Given the description of an element on the screen output the (x, y) to click on. 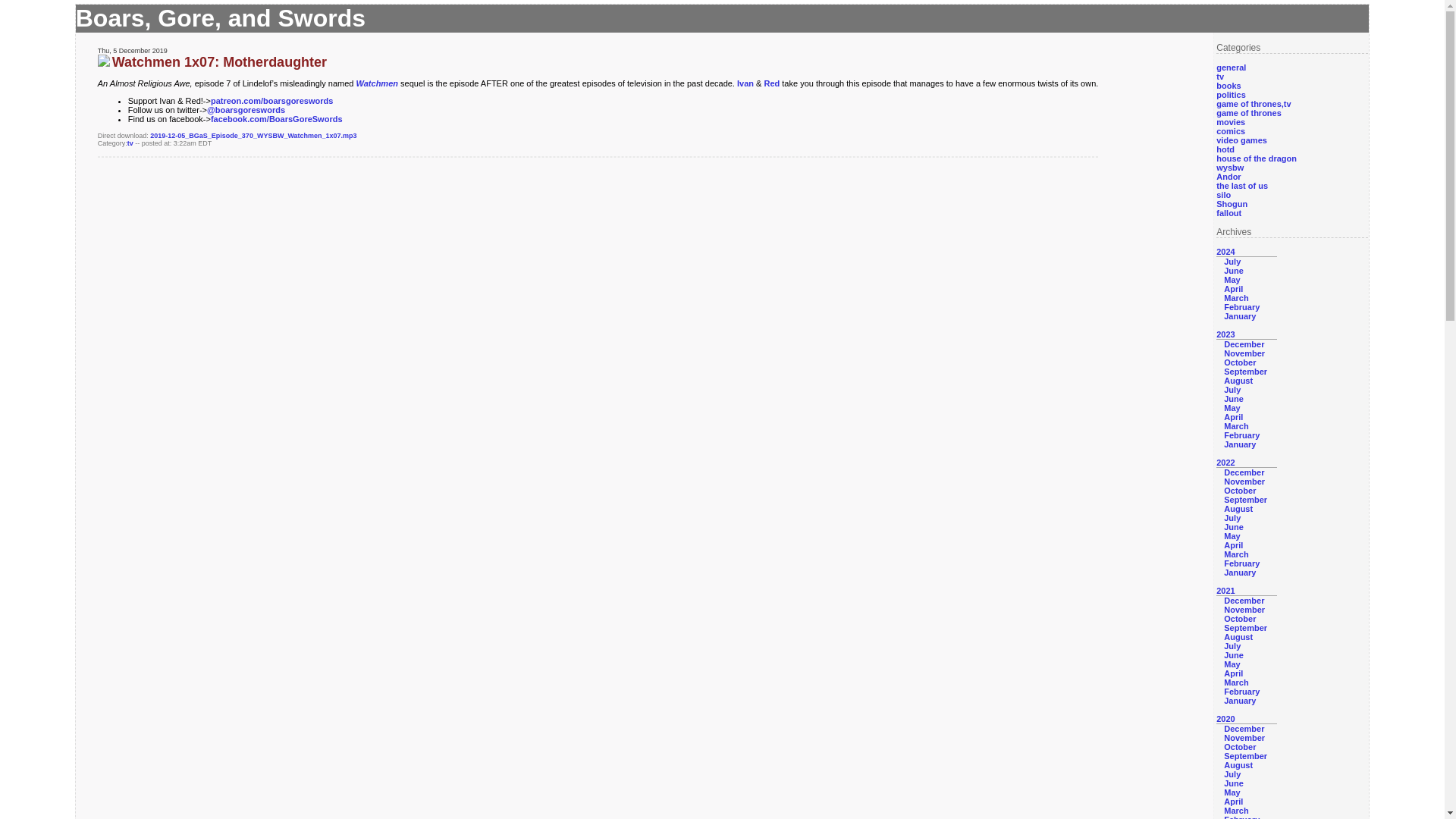
Andor (1227, 175)
May (1232, 279)
game of thrones,tv (1252, 103)
April (1233, 288)
books (1227, 85)
October (1239, 361)
politics (1230, 94)
March (1235, 297)
February (1241, 307)
May (1232, 407)
April (1233, 416)
November (1244, 352)
August (1238, 379)
September (1245, 370)
July (1232, 261)
